Given the description of an element on the screen output the (x, y) to click on. 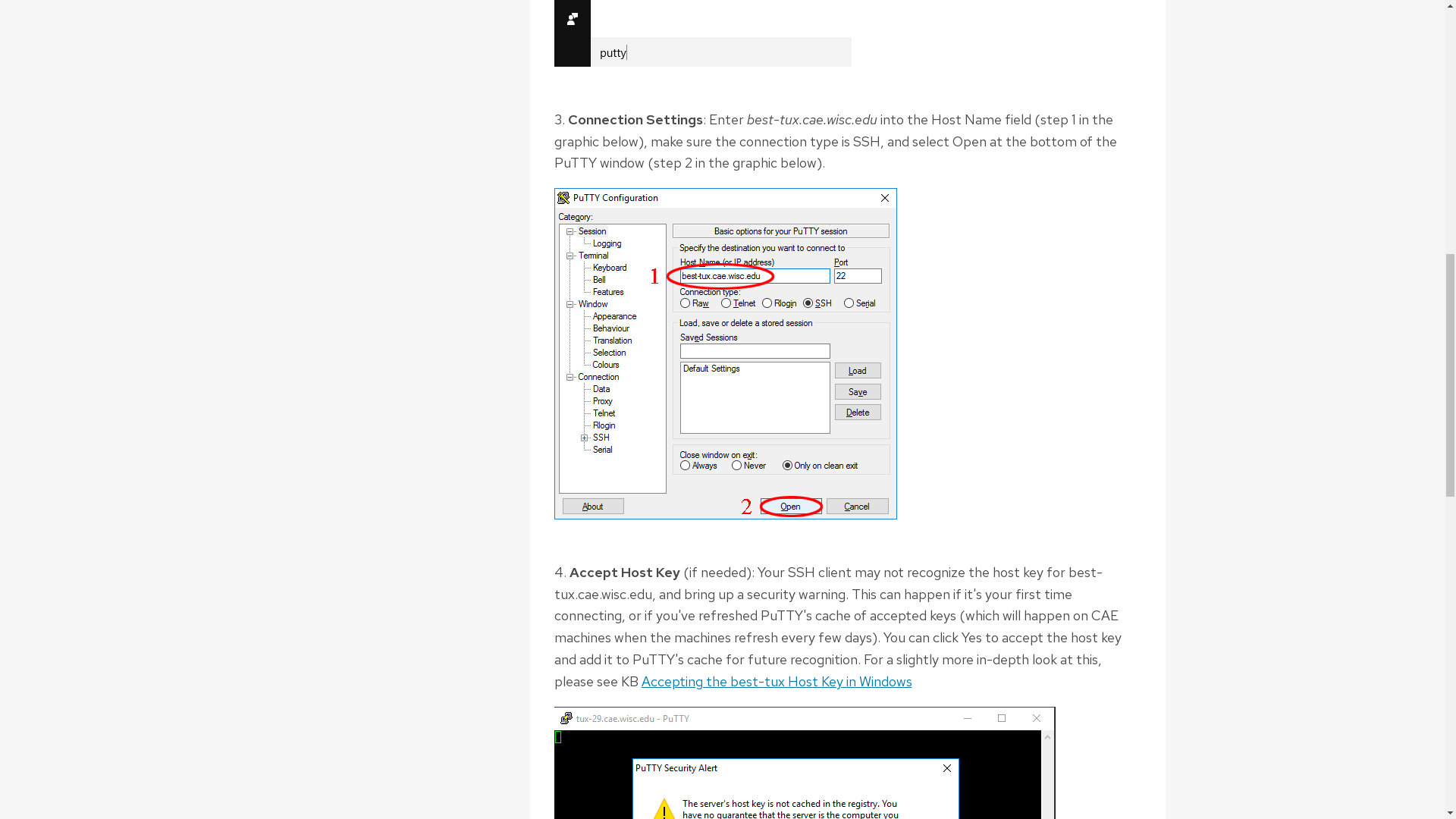
Accepting the best-tux Host Key in Windows (777, 681)
PuTTY to best-tux.cae.wisc.edu settings (724, 353)
Locating PuTTY client on CAE Windows lab machines (701, 33)
Accepting the best-tux.cae.wisc.edu host key - example (803, 762)
